Given the description of an element on the screen output the (x, y) to click on. 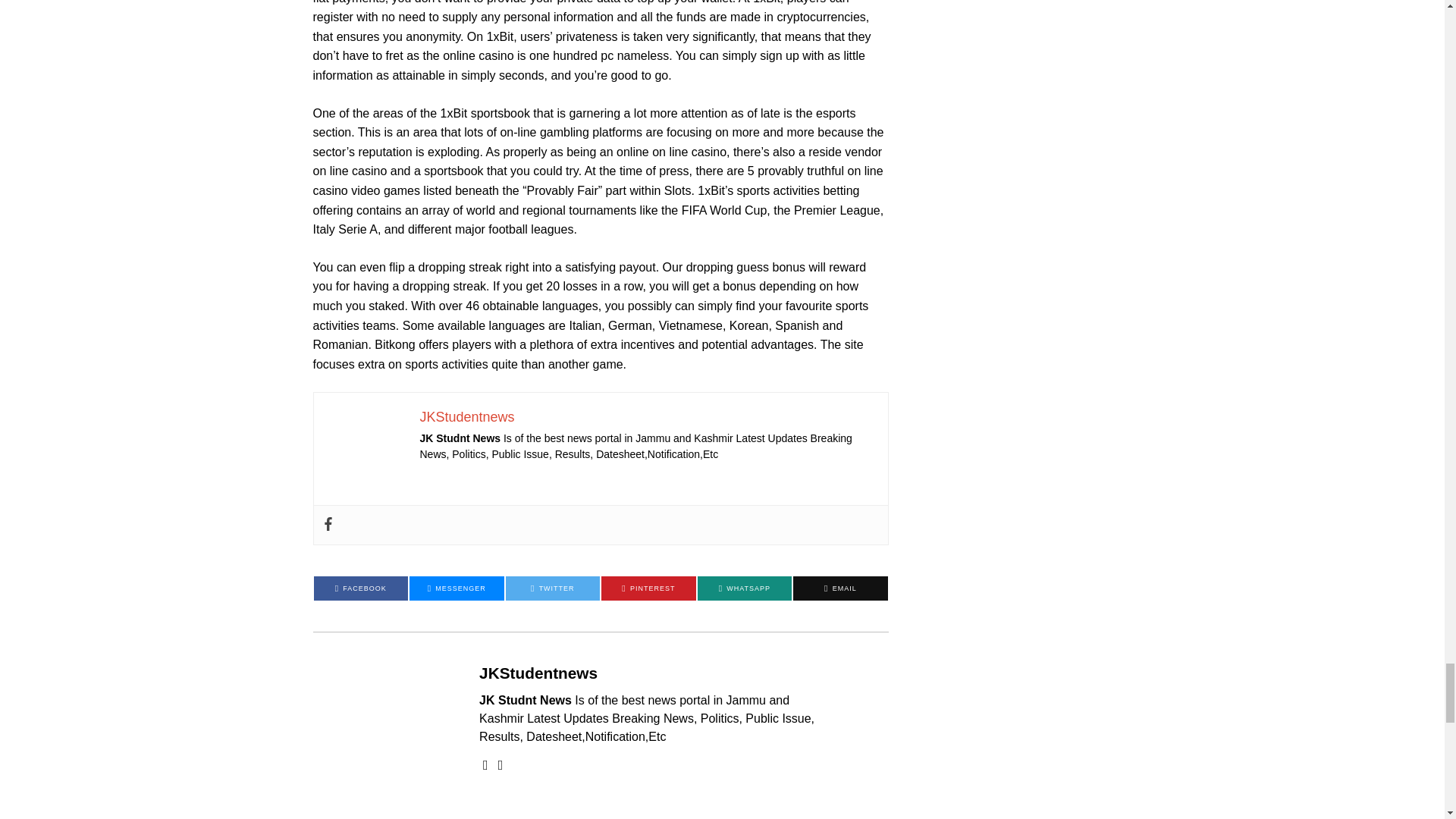
EMAIL (840, 588)
JKStudentnews (467, 417)
WHATSAPP (744, 588)
PINTEREST (648, 588)
MESSENGER (456, 588)
TWITTER (552, 588)
JKStudentnews (537, 672)
FACEBOOK (361, 588)
